Given the description of an element on the screen output the (x, y) to click on. 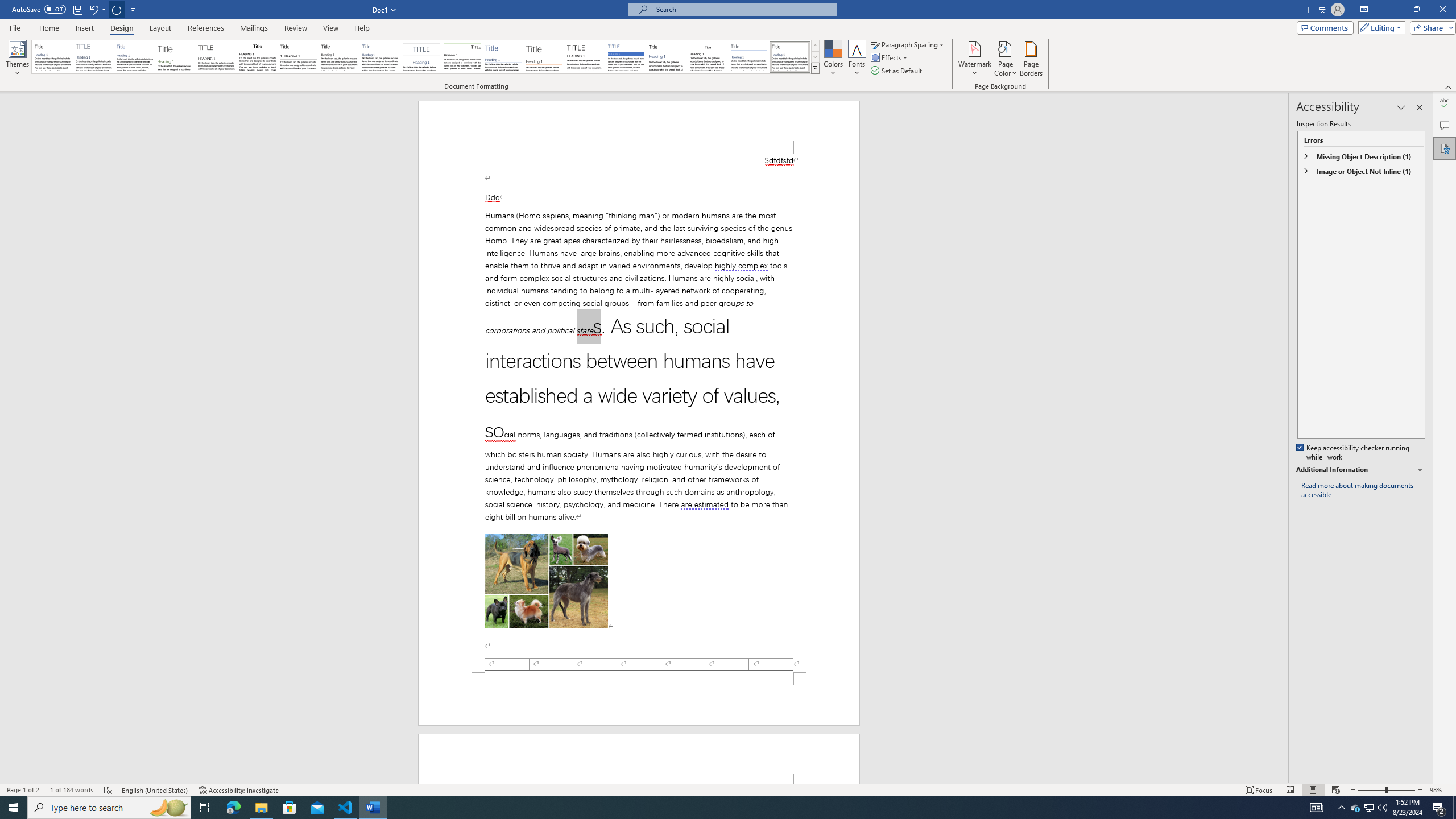
Basic (Elegant) (93, 56)
Page 1 content (638, 412)
Casual (379, 56)
Lines (Stylish) (544, 56)
Lines (Simple) (503, 56)
Undo Apply Quick Style Set (92, 9)
Word (666, 56)
